Given the description of an element on the screen output the (x, y) to click on. 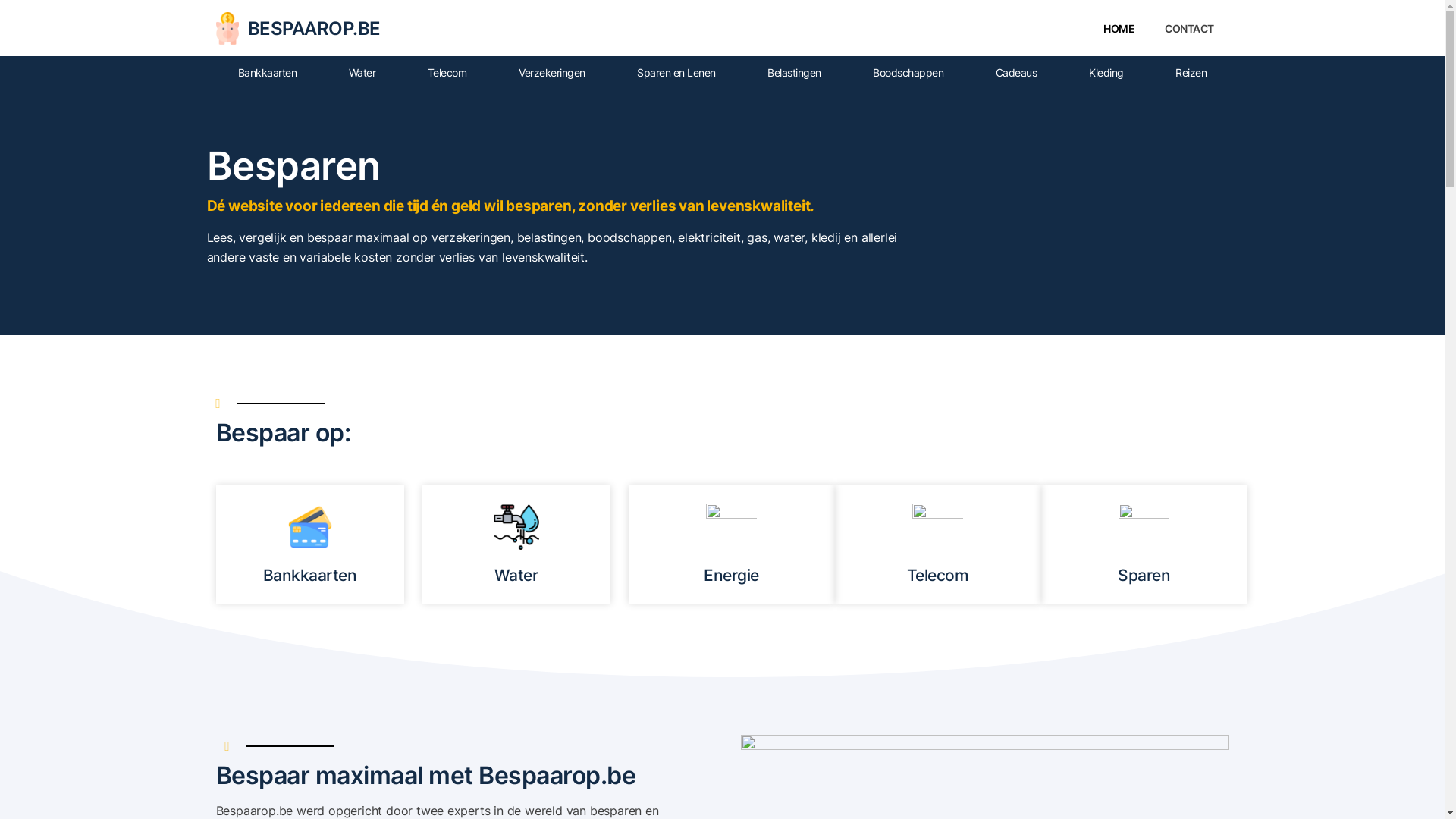
HOME Element type: text (1118, 28)
Sparen en Lenen Element type: text (676, 72)
BESPAAROP.BE Element type: text (313, 28)
Boodschappen Element type: text (908, 72)
Verzekeringen Element type: text (551, 72)
Water Element type: text (516, 574)
Water Element type: text (362, 72)
Kleding Element type: text (1105, 72)
Cadeaus Element type: text (1016, 72)
Telecom Element type: text (447, 72)
Reizen Element type: text (1191, 72)
Belastingen Element type: text (794, 72)
Bankkaarten Element type: text (266, 72)
CONTACT Element type: text (1189, 28)
